Given the description of an element on the screen output the (x, y) to click on. 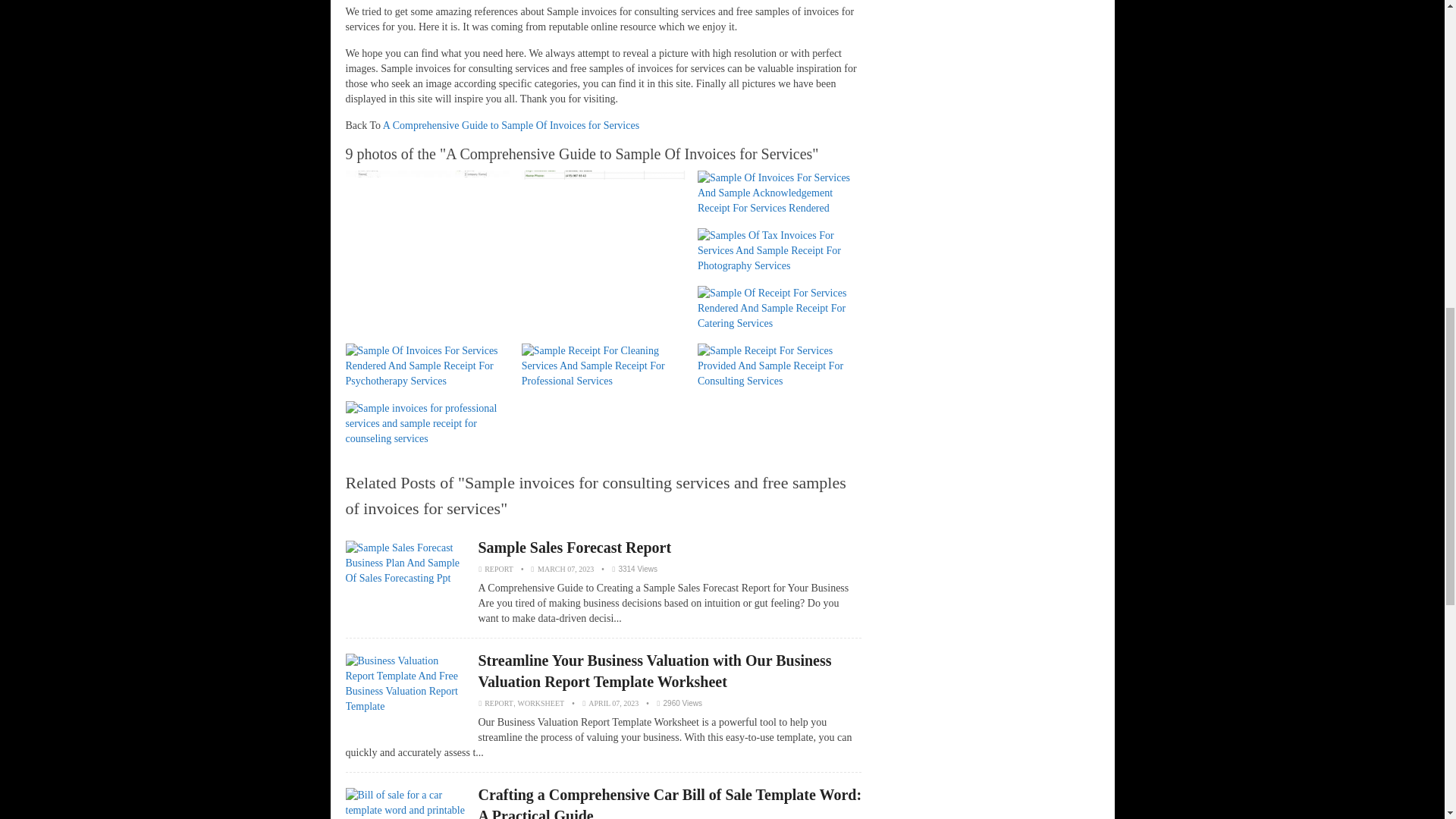
REPORT (498, 703)
REPORT (498, 569)
WORKSHEET (540, 703)
Sample Sales Forecast Report (574, 547)
